Given the description of an element on the screen output the (x, y) to click on. 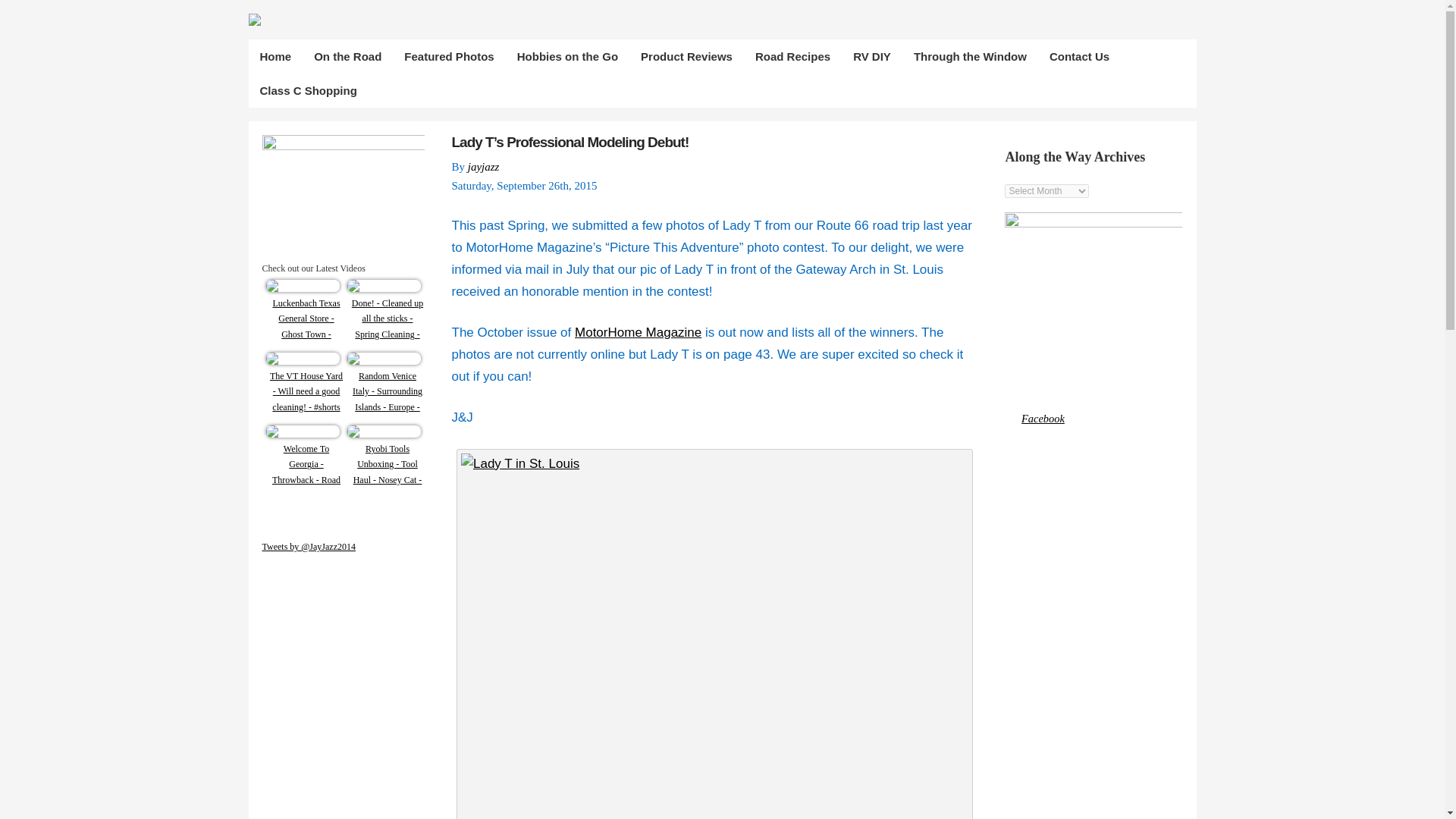
Home (275, 56)
MotorHome Magazine (638, 332)
Class C Shopping (308, 90)
On the Road (347, 56)
jayjazz (483, 166)
Hobbies on the Go (566, 56)
Contact Us (1079, 56)
jayjazz (483, 166)
Through the Window (970, 56)
RV DIY (871, 56)
Product Reviews (686, 56)
Road Recipes (792, 56)
Featured Photos (449, 56)
